Given the description of an element on the screen output the (x, y) to click on. 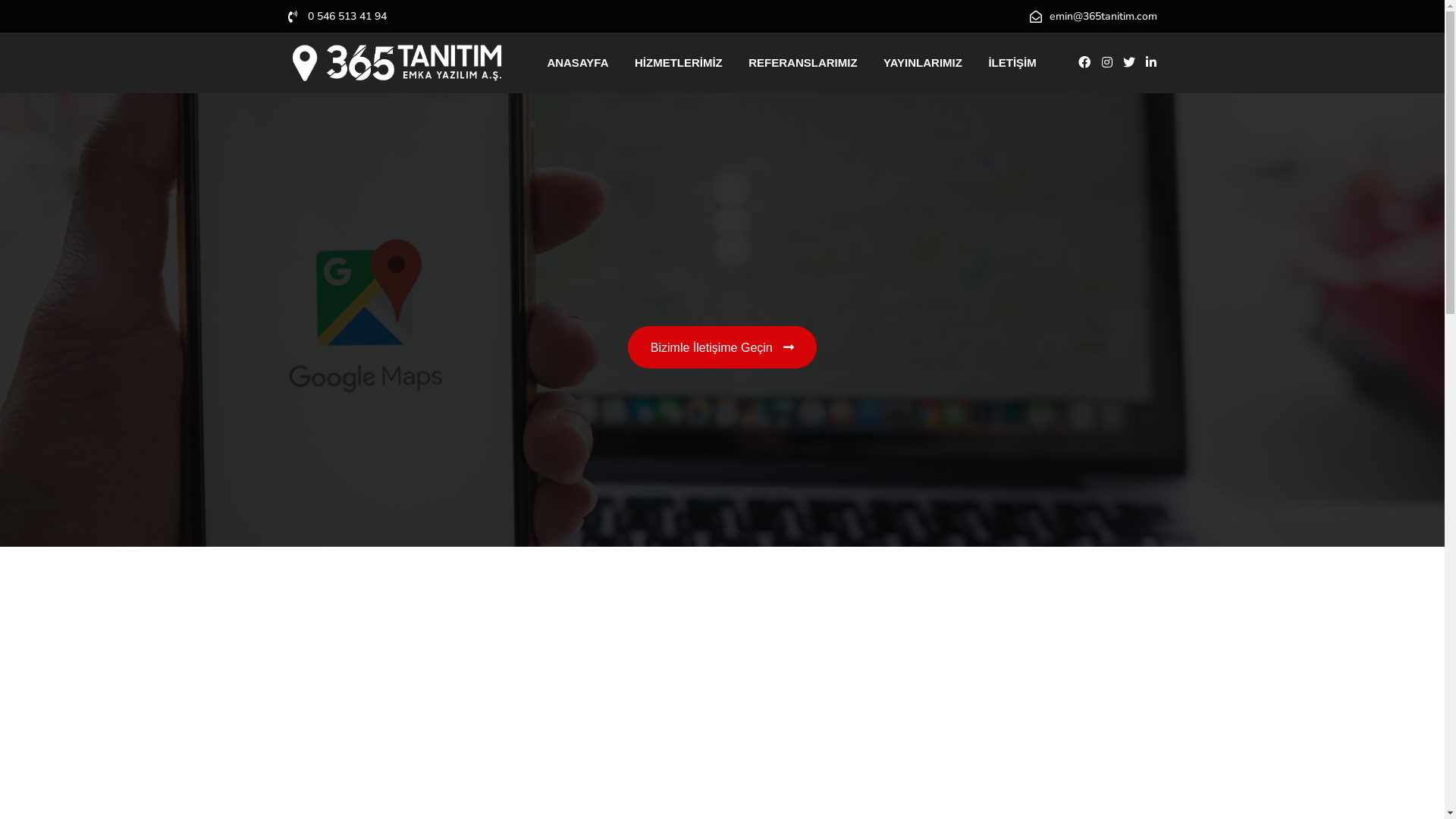
ANASAYFA Element type: text (577, 62)
emin@365tanitim.com Element type: text (1103, 16)
0 546 513 41 94 Element type: text (346, 16)
REFERANSLARIMIZ Element type: text (802, 62)
YAYINLARIMIZ Element type: text (922, 62)
